Given the description of an element on the screen output the (x, y) to click on. 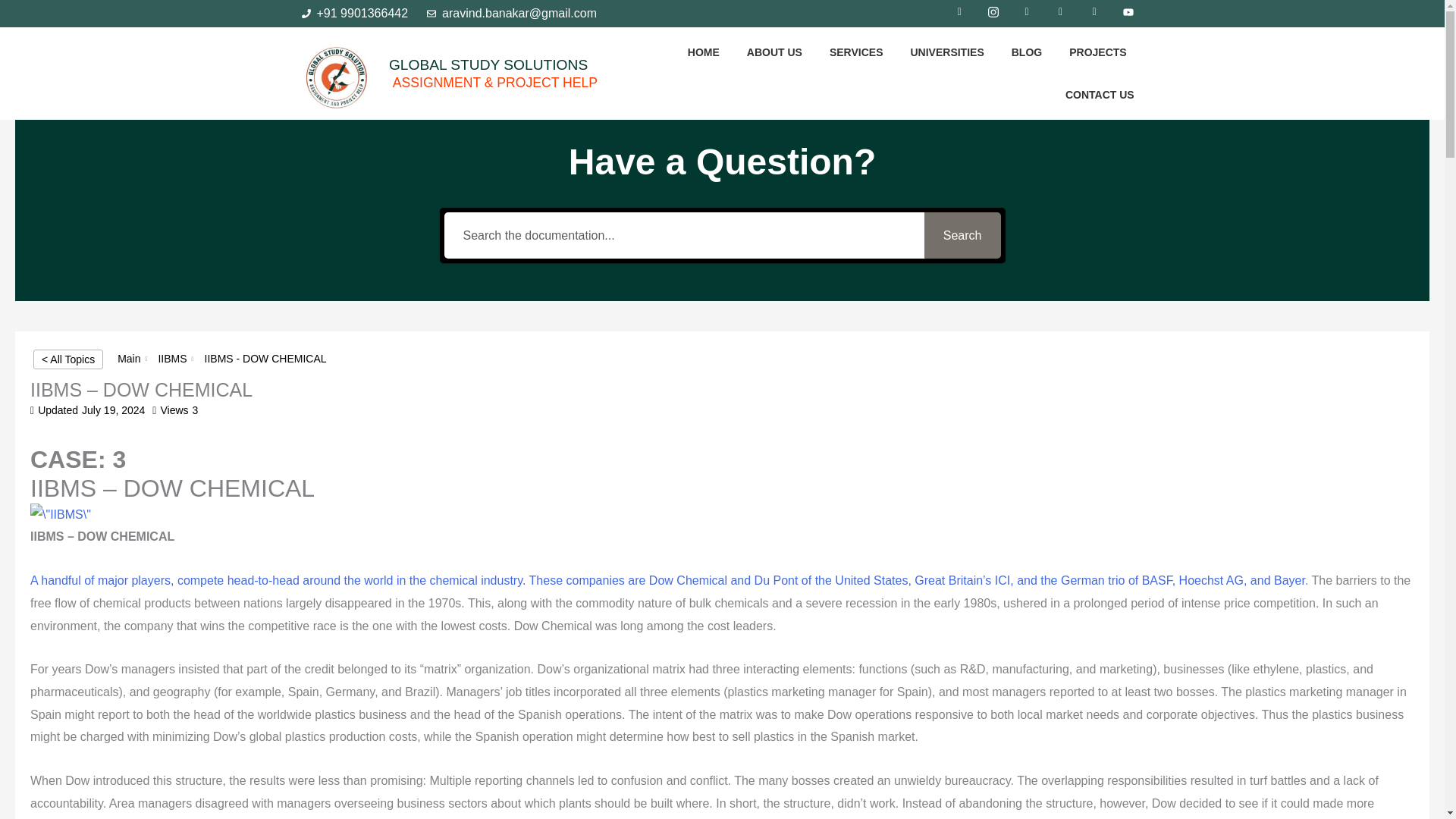
BLOG (1027, 52)
CONTACT US (1099, 94)
ABOUT US (774, 52)
PROJECTS (1097, 52)
HOME (703, 52)
IIBMS (171, 358)
UNIVERSITIES (947, 52)
SERVICES (856, 52)
Search (962, 235)
GLOBAL STUDY SOLUTIONS (488, 64)
